Given the description of an element on the screen output the (x, y) to click on. 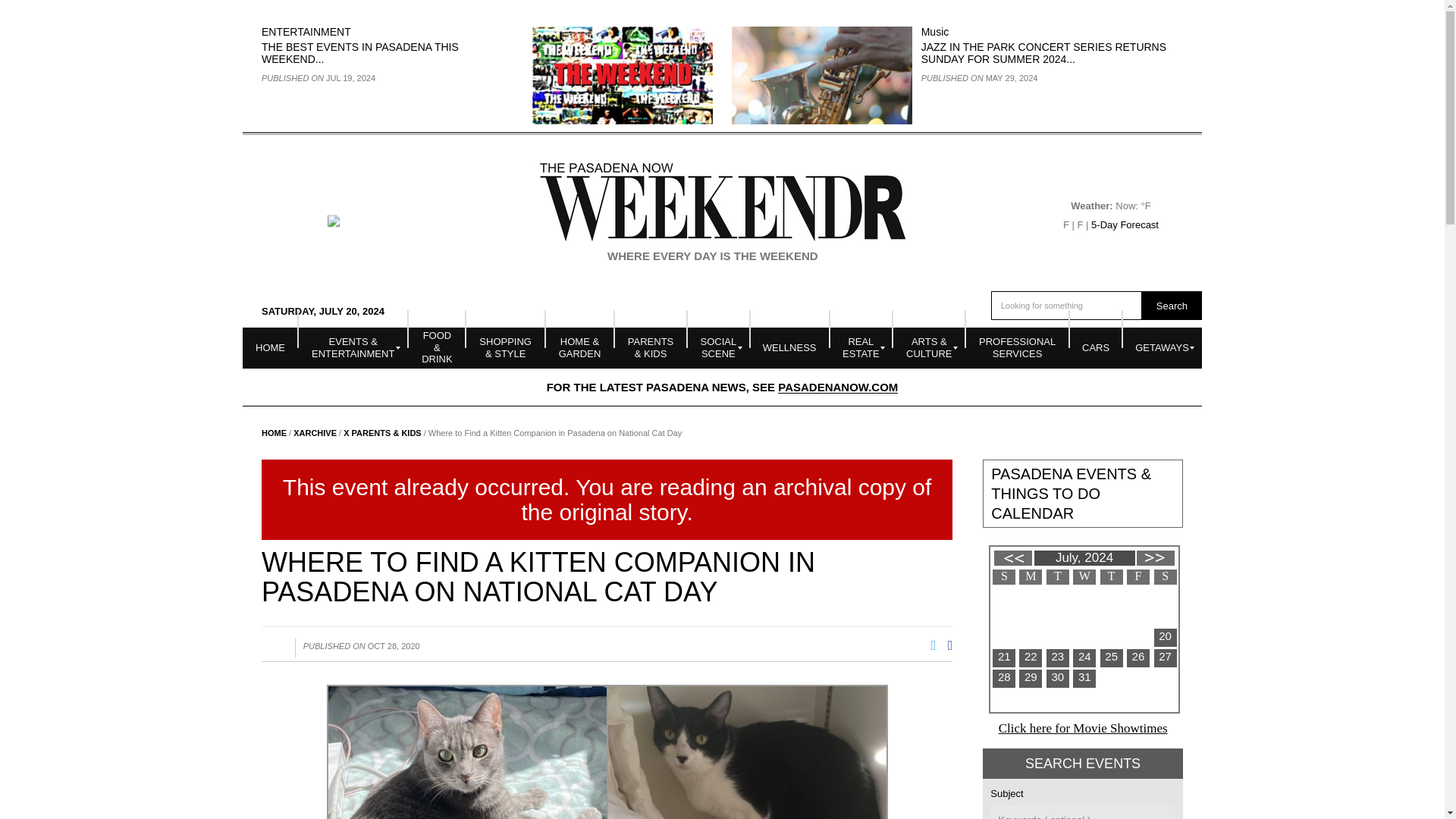
View all posts in ENTERTAINMENT (306, 31)
View all posts in Music (935, 31)
5-Day Forecast (1124, 224)
The Best Events In Pasadena This Weekend (622, 74)
SOCIAL SCENE (718, 347)
WELLNESS (789, 347)
Search (1171, 305)
Music (935, 31)
HOME (270, 347)
THE BEST EVENTS IN PASADENA THIS WEEKEND... (360, 52)
ENTERTAINMENT (306, 31)
REAL ESTATE (861, 347)
The Best Events In Pasadena This Weekend (360, 52)
